Given the description of an element on the screen output the (x, y) to click on. 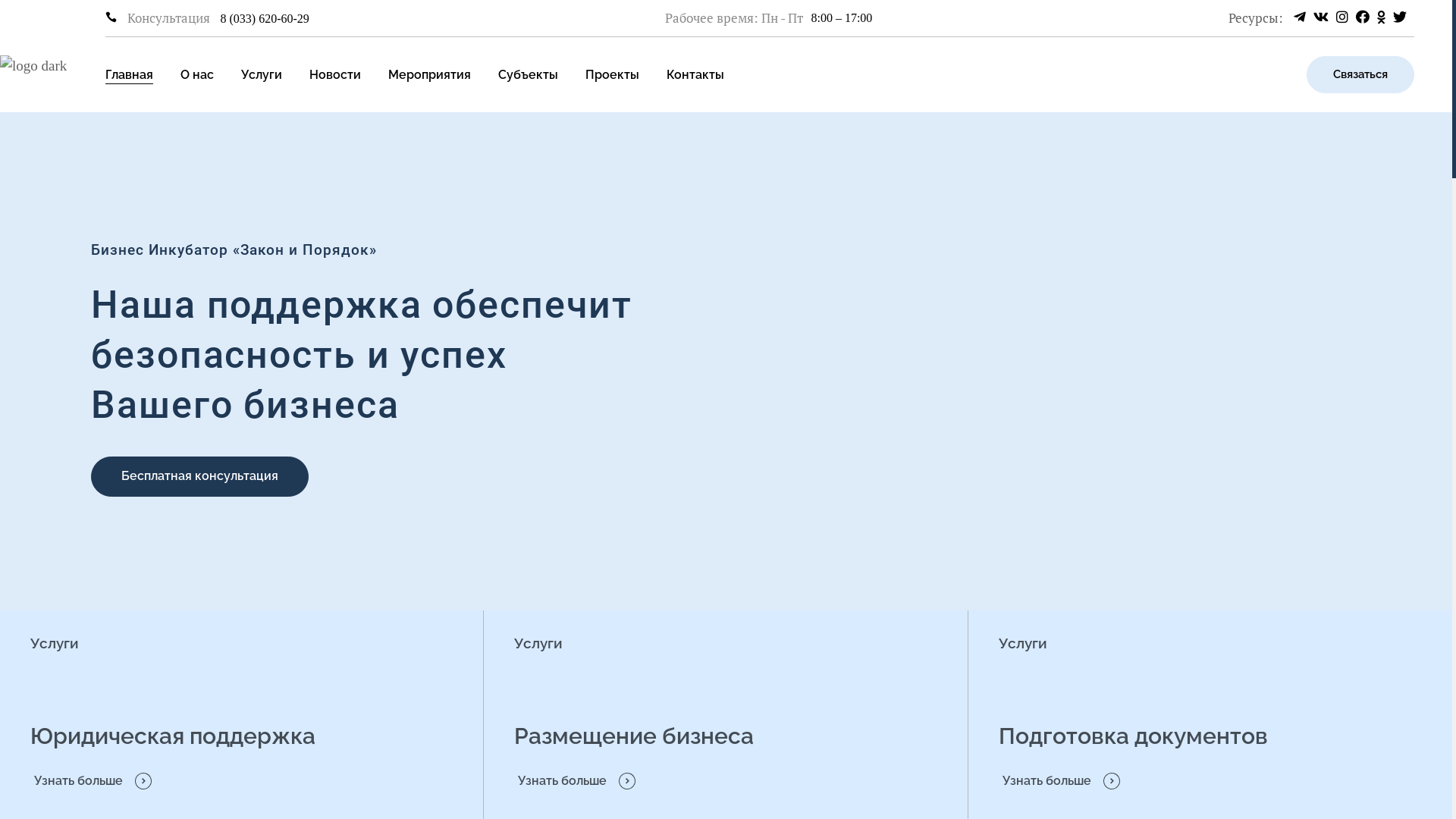
8 (033) 620-60-29 Element type: text (264, 18)
